Given the description of an element on the screen output the (x, y) to click on. 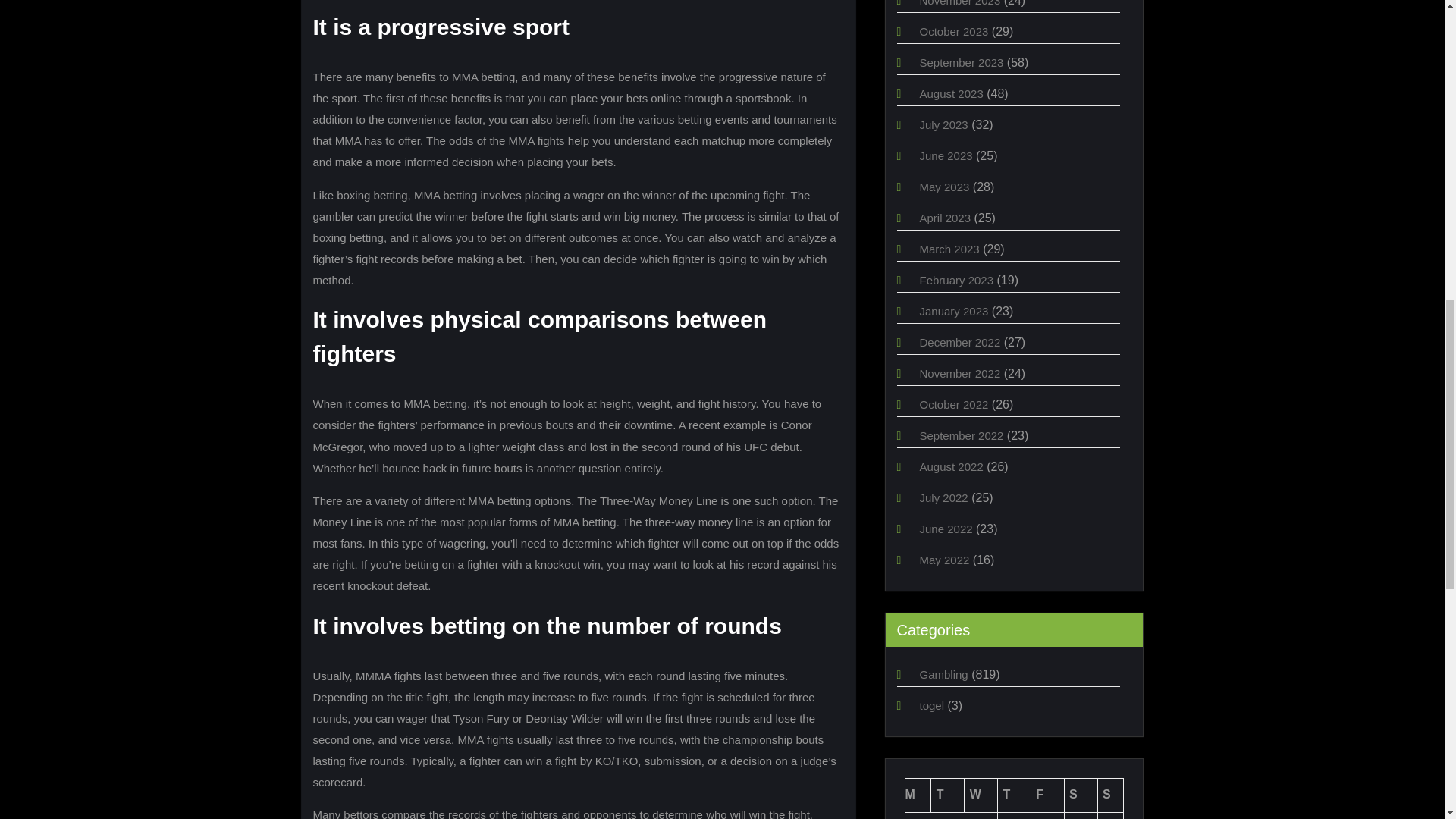
September 2023 (960, 62)
Friday (1047, 795)
Tuesday (947, 795)
June 2023 (945, 155)
May 2023 (943, 186)
May 2022 (943, 559)
August 2023 (950, 92)
June 2022 (945, 528)
Wednesday (980, 795)
August 2022 (950, 466)
